Given the description of an element on the screen output the (x, y) to click on. 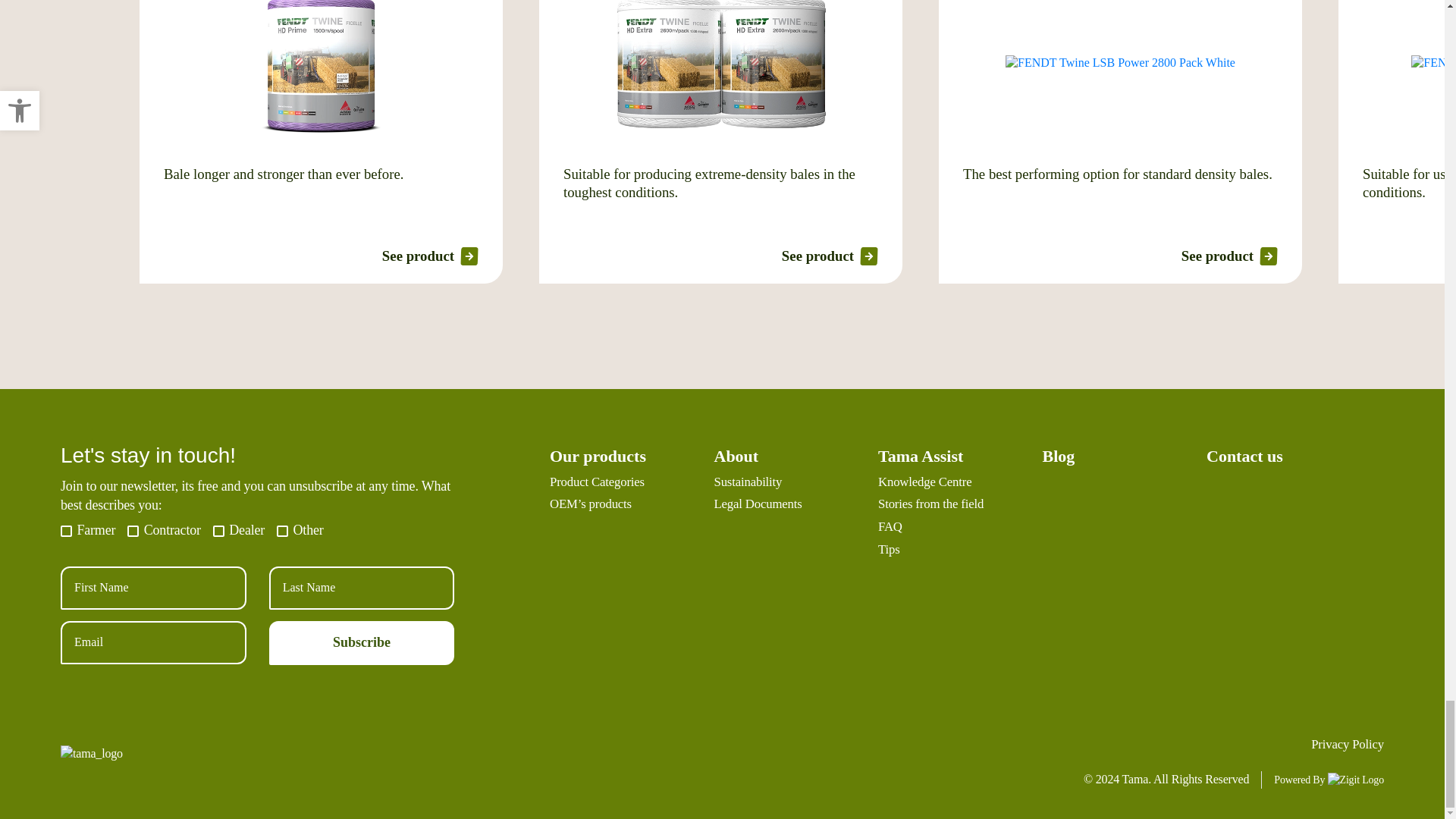
on (66, 530)
on (218, 530)
on (133, 530)
Subscribe (361, 642)
on (282, 530)
